Given the description of an element on the screen output the (x, y) to click on. 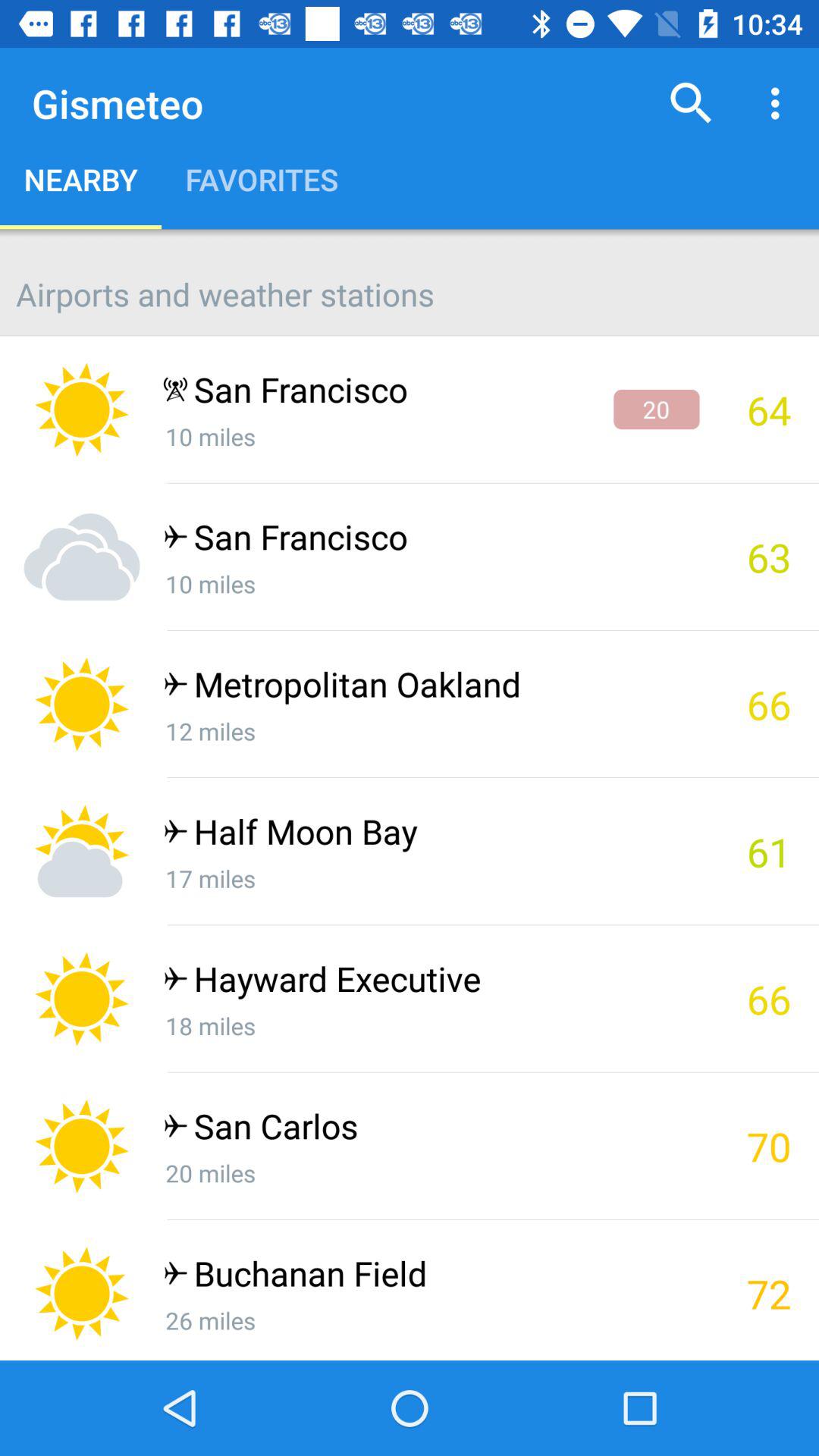
click the 20 miles (431, 1172)
